Given the description of an element on the screen output the (x, y) to click on. 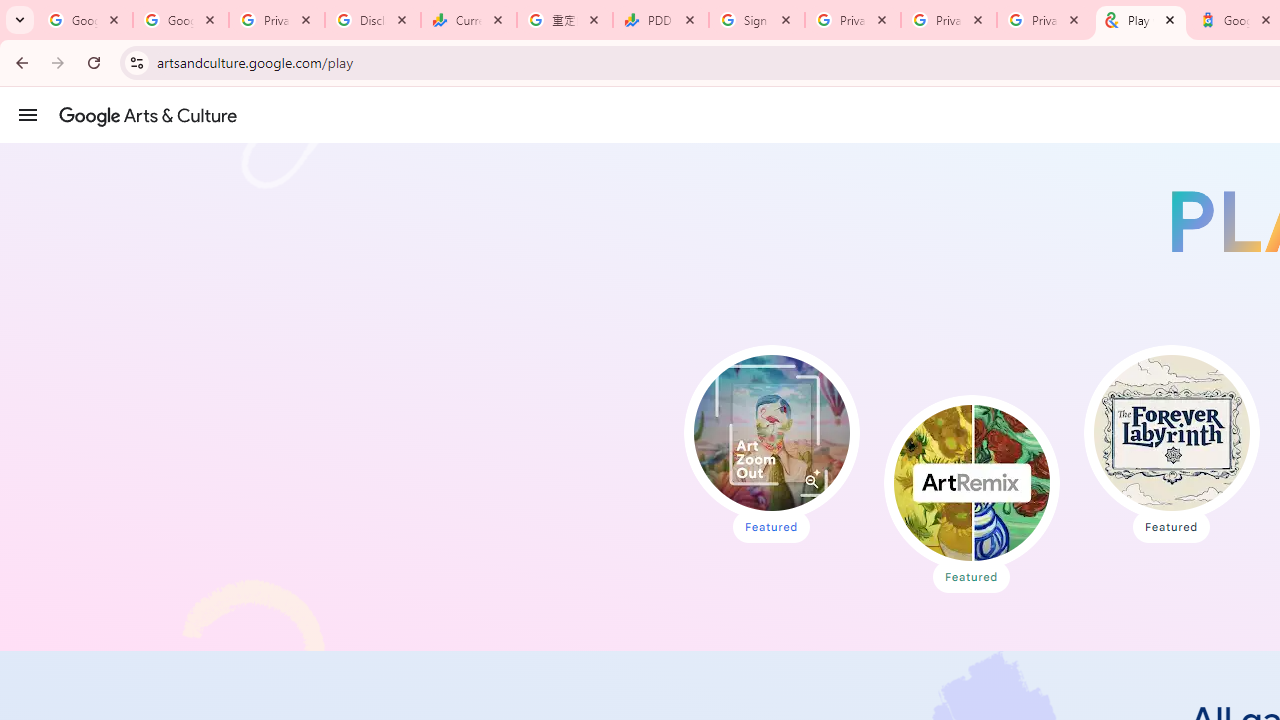
Google Arts & Culture (148, 115)
Privacy Checkup (1045, 20)
Currencies - Google Finance (469, 20)
PDD Holdings Inc - ADR (PDD) Price & News - Google Finance (661, 20)
